Given the description of an element on the screen output the (x, y) to click on. 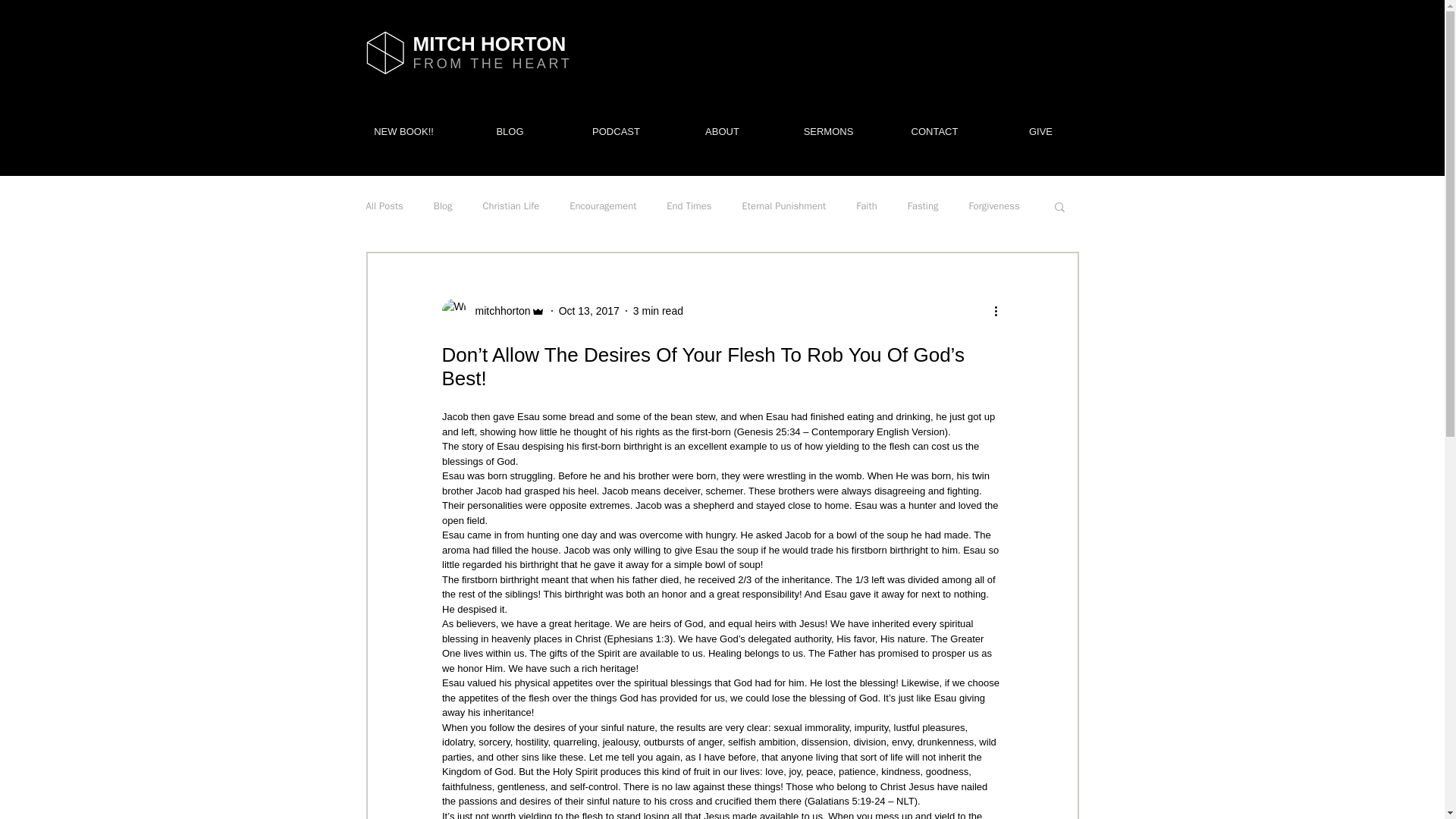
3 min read (657, 310)
MITCH HORTON (489, 43)
ABOUT (721, 131)
Fasting (923, 205)
Faith (866, 205)
Blog (442, 205)
All Posts (384, 205)
Forgiveness (993, 205)
Eternal Punishment (784, 205)
FROM THE HEART (492, 63)
BLOG (509, 131)
mitchhorton (497, 311)
GIVE (1040, 131)
NEW BOOK!! (403, 131)
Encouragement (602, 205)
